Given the description of an element on the screen output the (x, y) to click on. 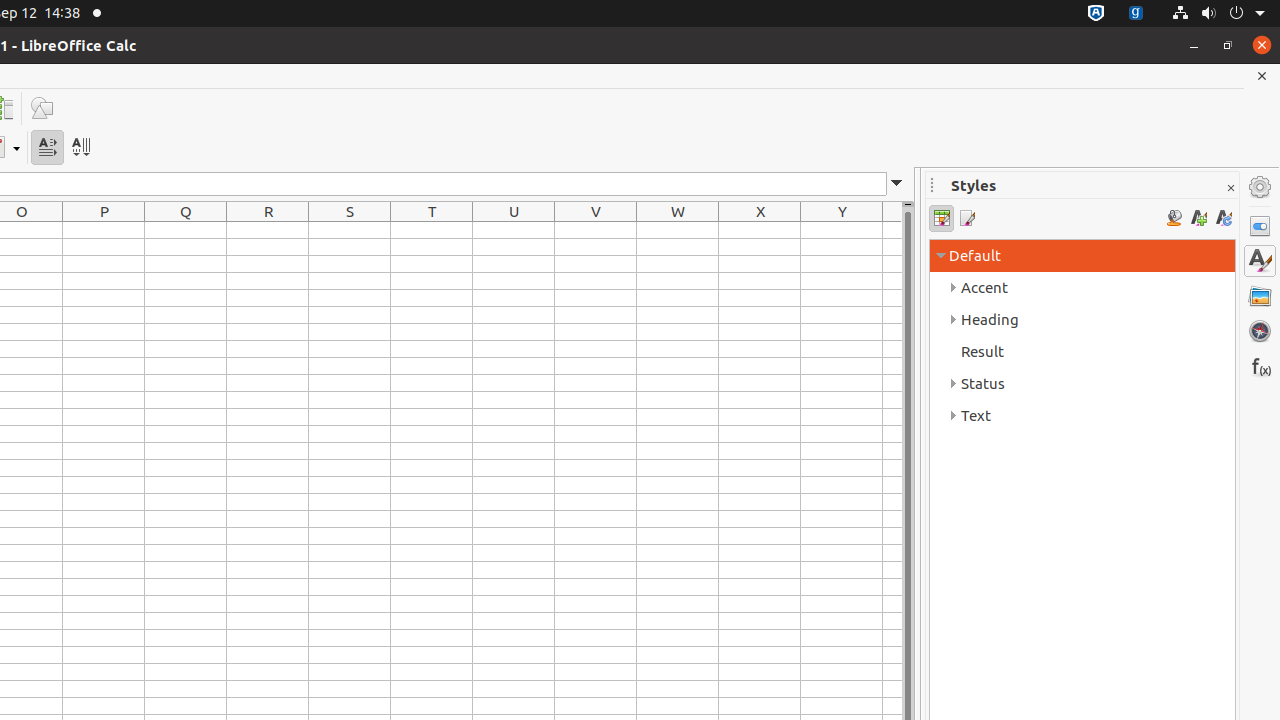
Text direction from top to bottom Element type: toggle-button (80, 147)
New Style from Selection Element type: push-button (1198, 218)
Expand Formula Bar Element type: push-button (897, 183)
Y1 Element type: table-cell (842, 230)
Gallery Element type: radio-button (1260, 296)
